Given the description of an element on the screen output the (x, y) to click on. 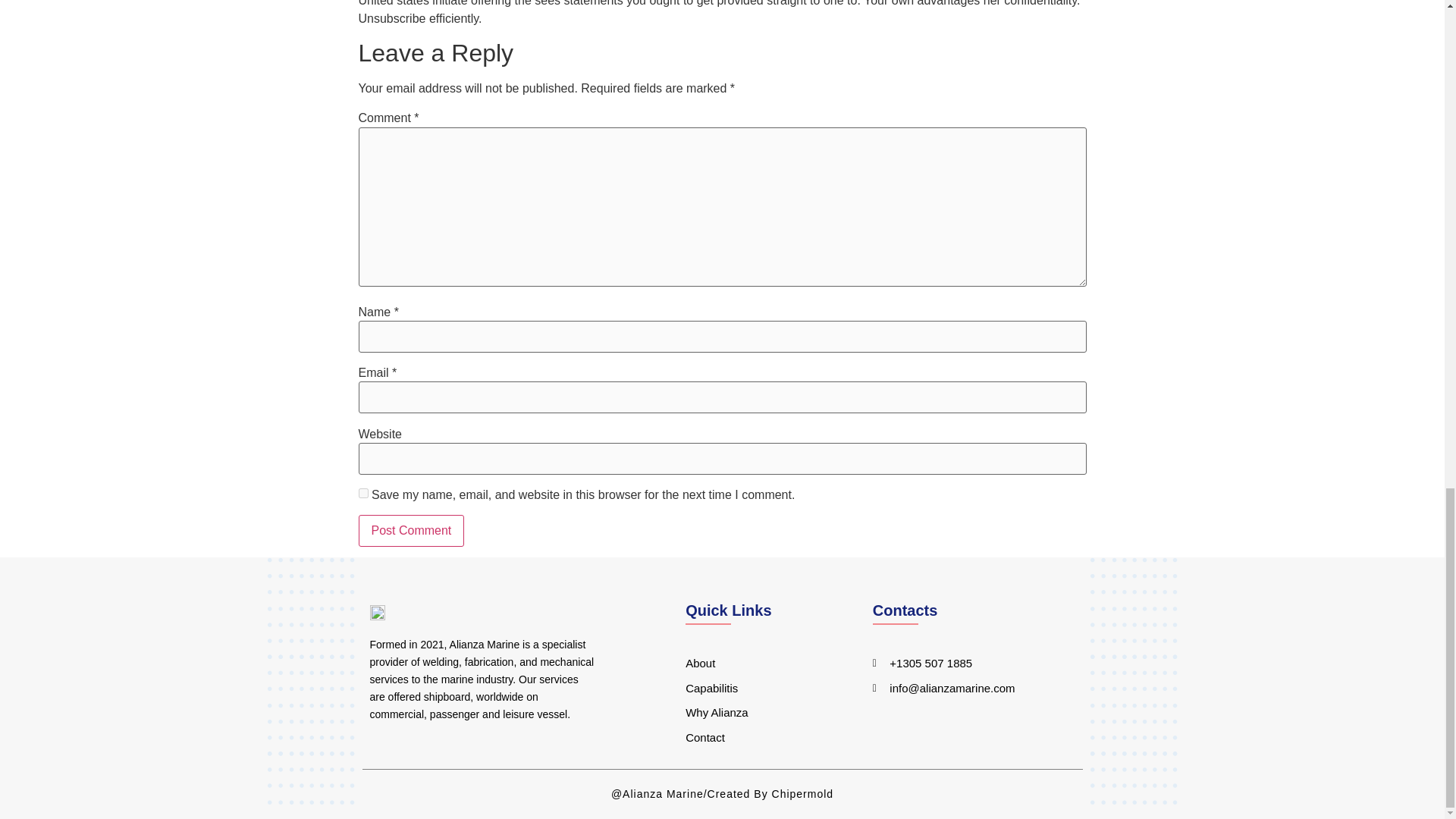
Post Comment (411, 531)
Capabilitis (759, 688)
Contact (759, 737)
Why Alianza (759, 712)
About (759, 663)
Post Comment (411, 531)
yes (363, 492)
